Given the description of an element on the screen output the (x, y) to click on. 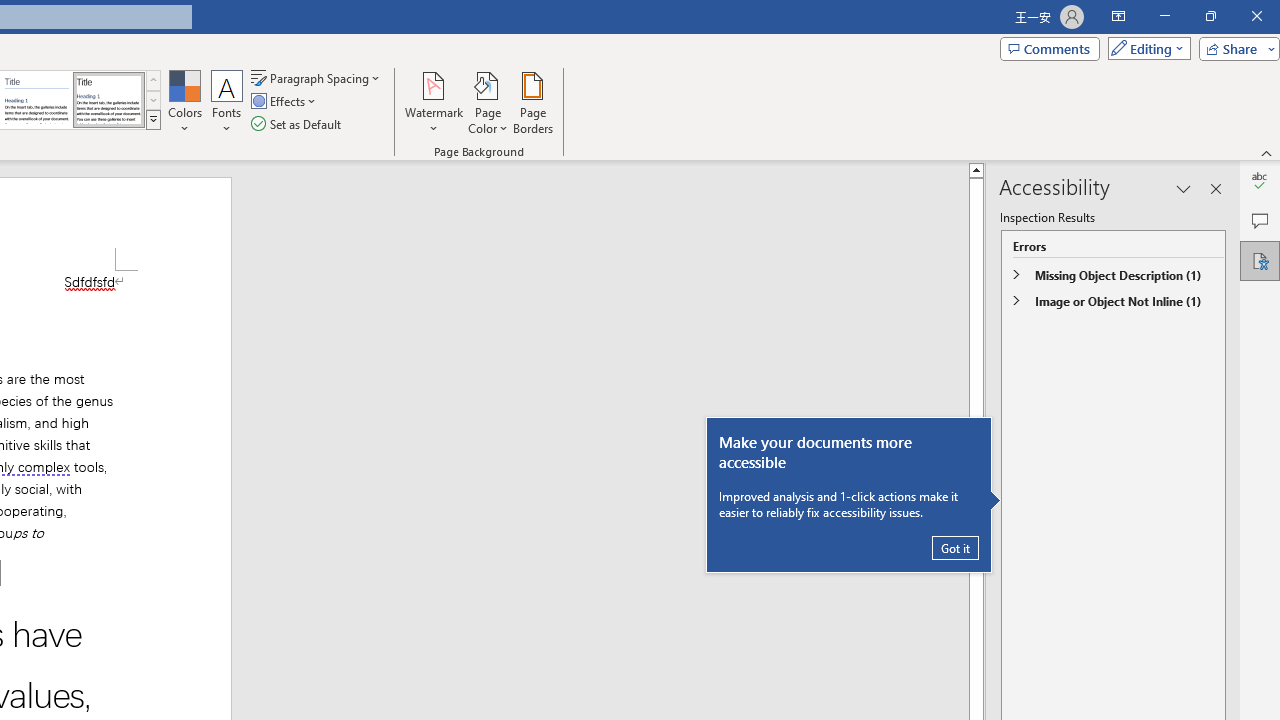
Page Color (487, 102)
Collapse the Ribbon (1267, 152)
Editor (1260, 180)
Word 2010 (36, 100)
Task Pane Options (1183, 188)
Word 2013 (108, 100)
Watermark (434, 102)
Colors (184, 102)
Style Set (153, 120)
Ribbon Display Options (1118, 16)
Row Down (153, 100)
Row up (153, 79)
